Given the description of an element on the screen output the (x, y) to click on. 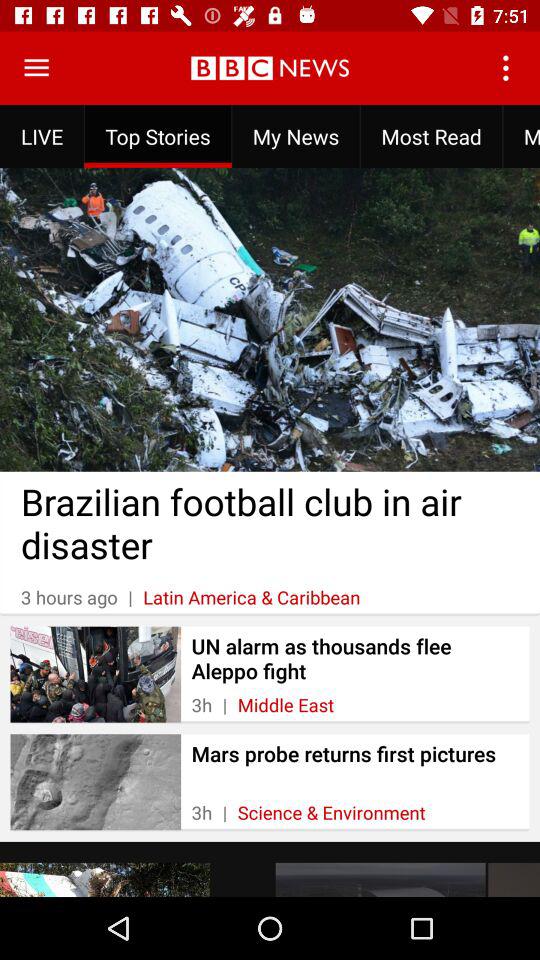
swipe to the middle east (285, 704)
